Given the description of an element on the screen output the (x, y) to click on. 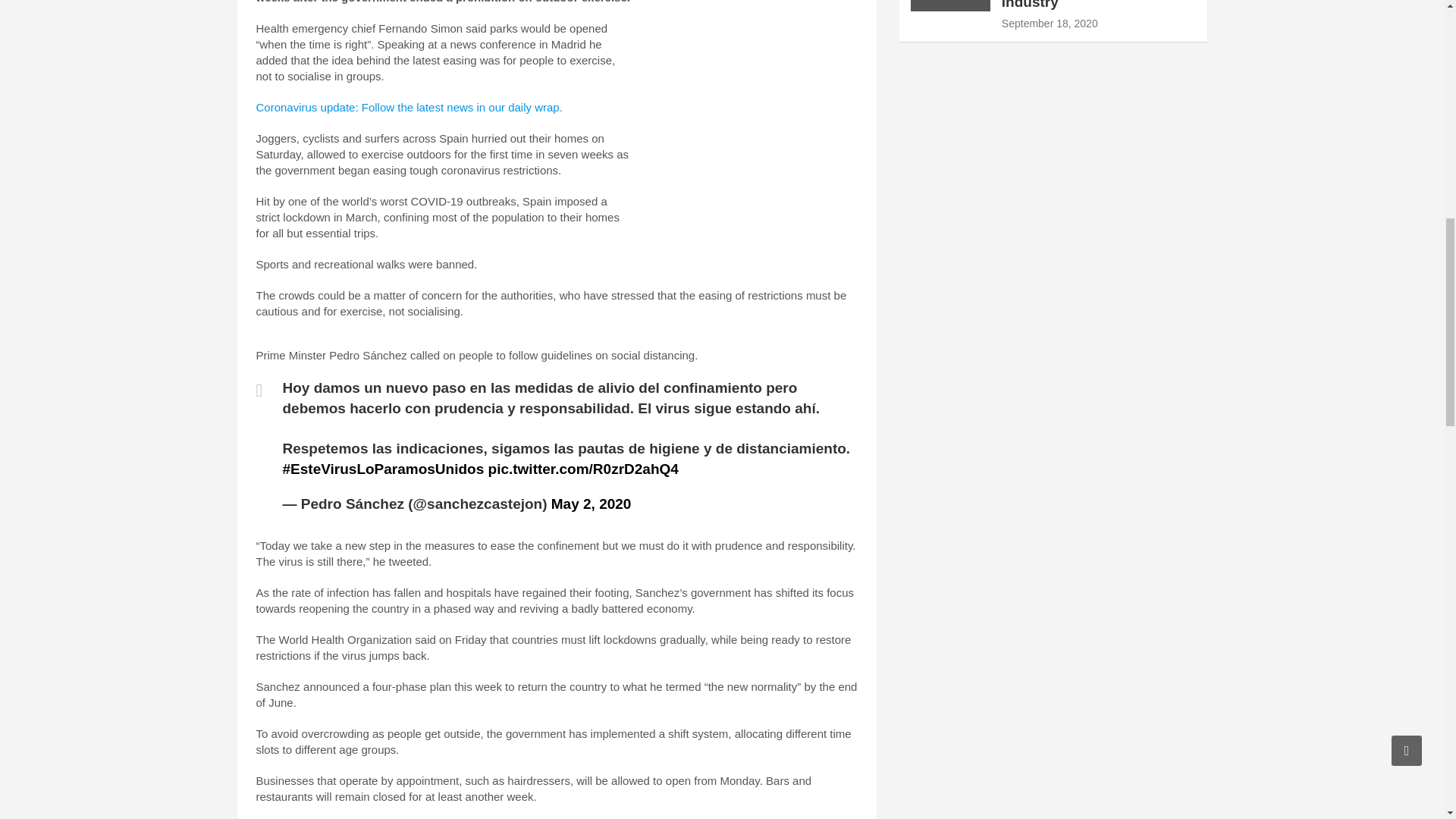
May 2, 2020 (591, 503)
